Given the description of an element on the screen output the (x, y) to click on. 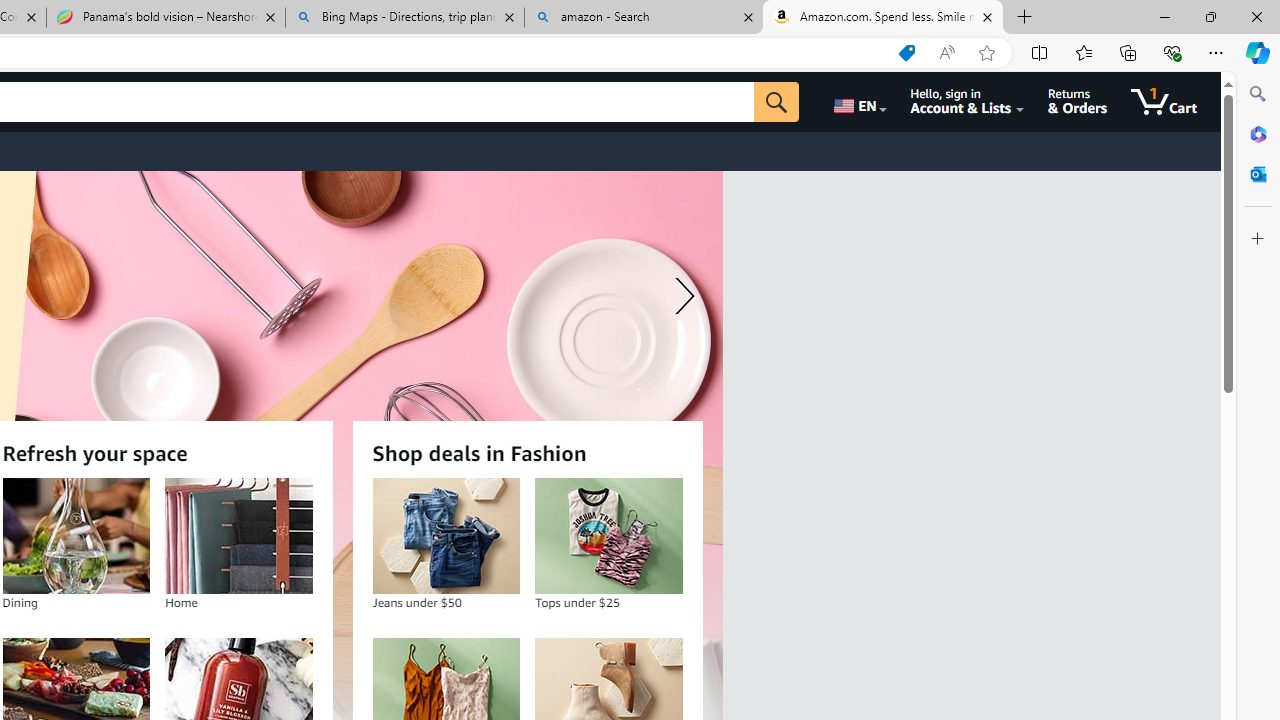
Returns & Orders (1077, 101)
New Tab (1025, 17)
Tops under $25 (608, 536)
Amazon.com. Spend less. Smile more. (883, 17)
Home (238, 536)
Settings and more (Alt+F) (1215, 52)
Favorites (1083, 52)
Dining (75, 536)
Search (1258, 94)
Close (1256, 16)
Jeans under $50 (445, 536)
Hello, sign in Account & Lists (967, 101)
Collections (1128, 52)
